Given the description of an element on the screen output the (x, y) to click on. 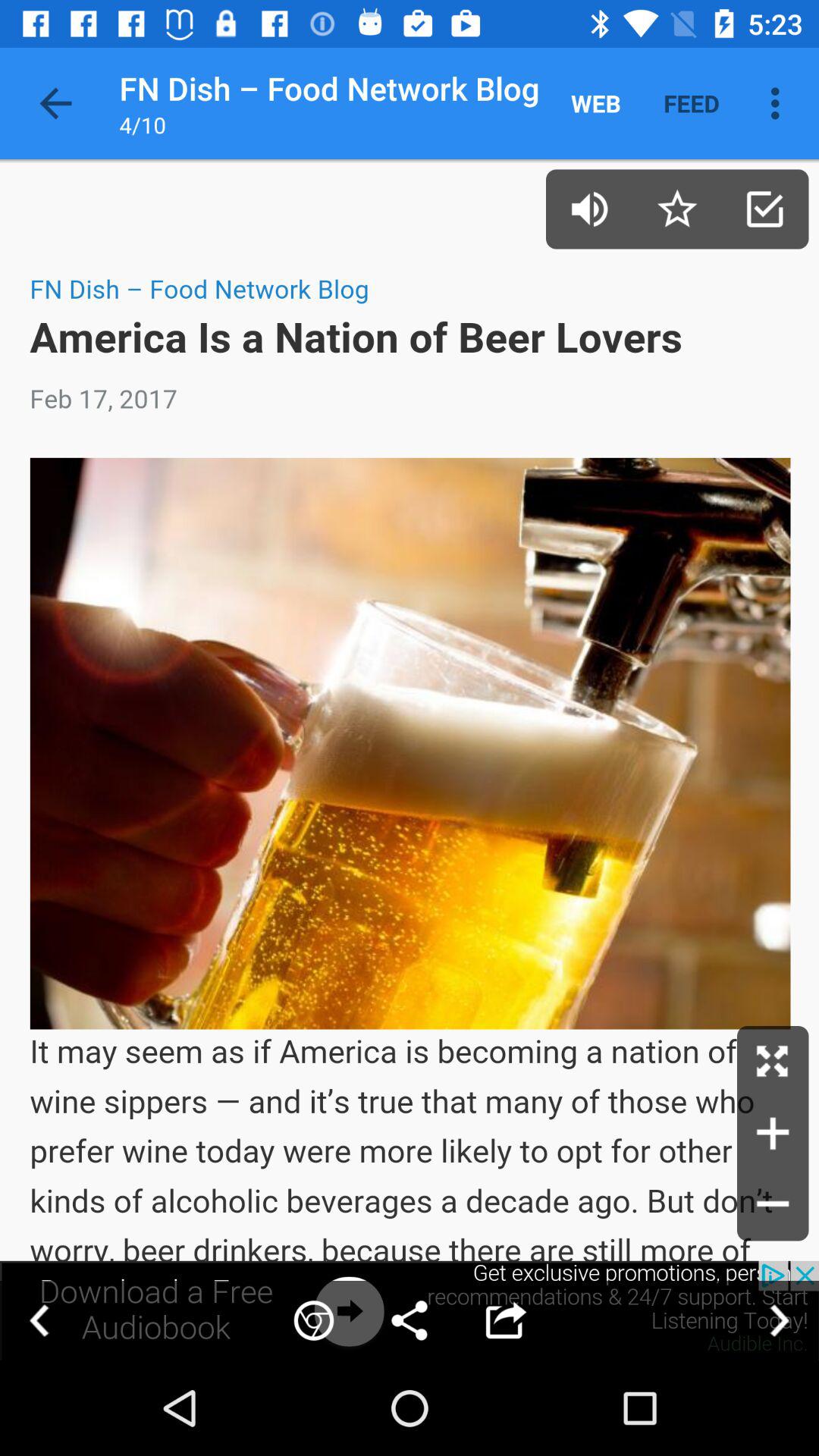
open the image (772, 1061)
